Given the description of an element on the screen output the (x, y) to click on. 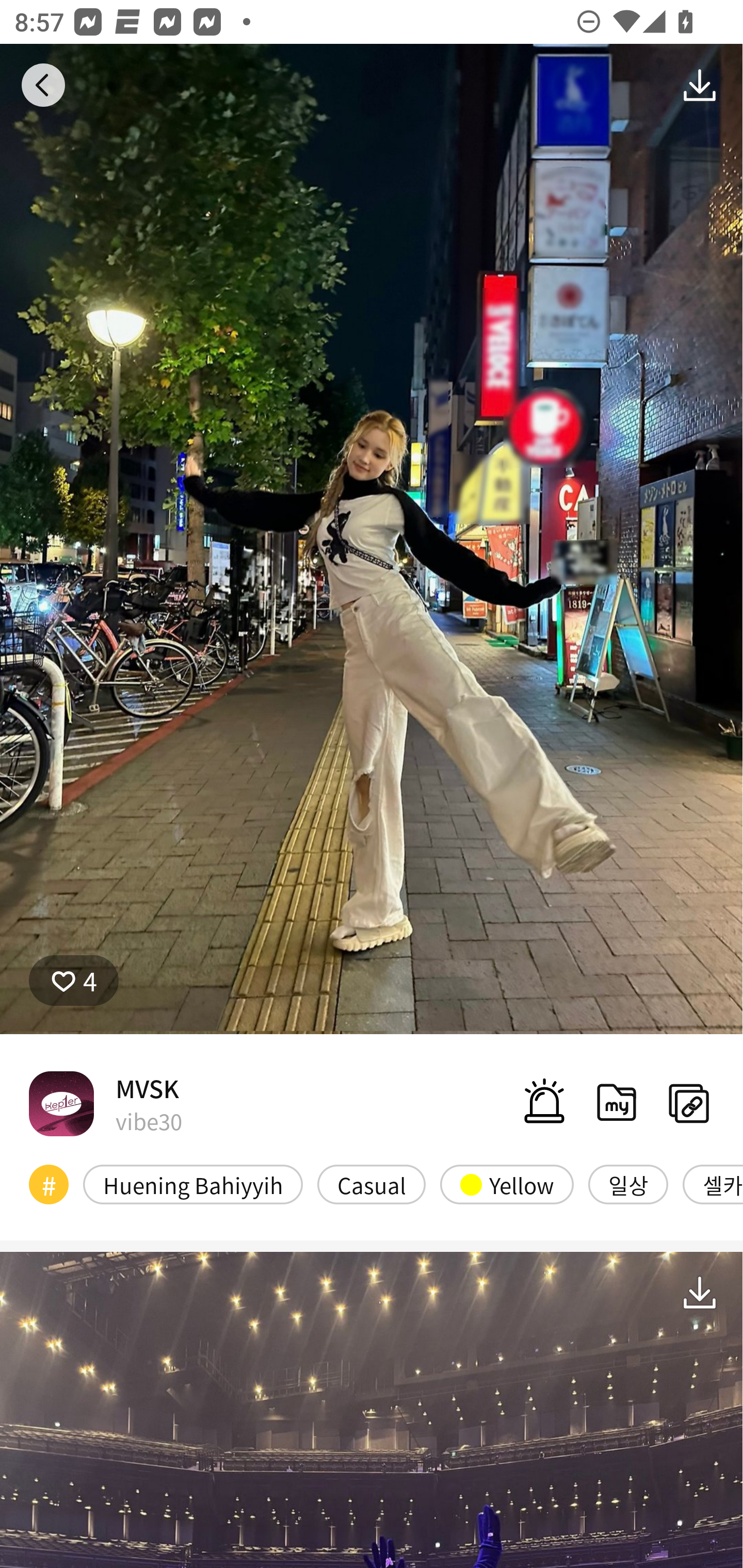
4 (73, 980)
MVSK vibe30 (105, 1102)
Huening Bahiyyih (193, 1184)
Casual (371, 1184)
Yellow (506, 1184)
일상 (627, 1184)
셀카 (712, 1184)
